Given the description of an element on the screen output the (x, y) to click on. 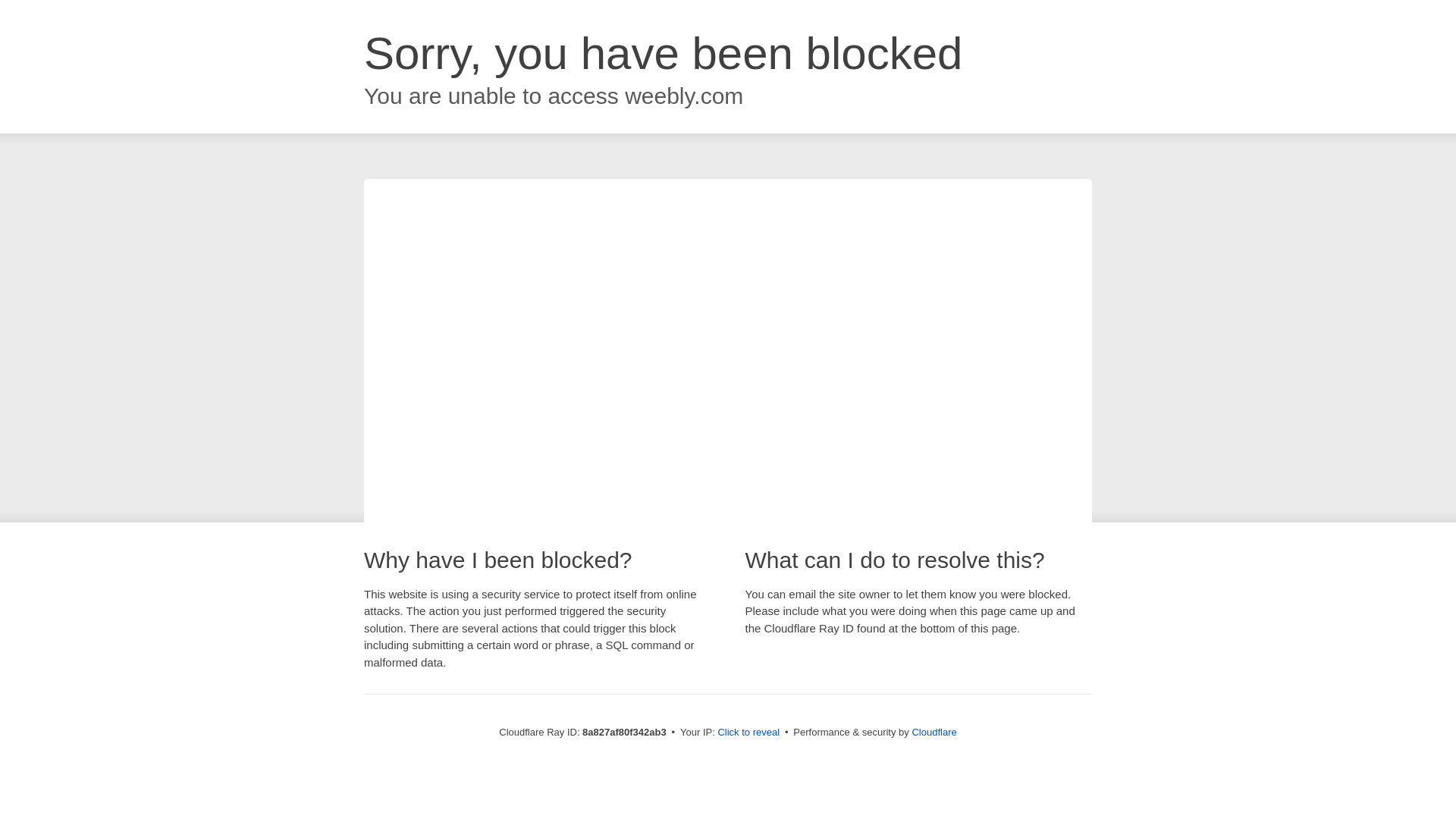
Click to reveal (747, 732)
Cloudflare (933, 731)
